Given the description of an element on the screen output the (x, y) to click on. 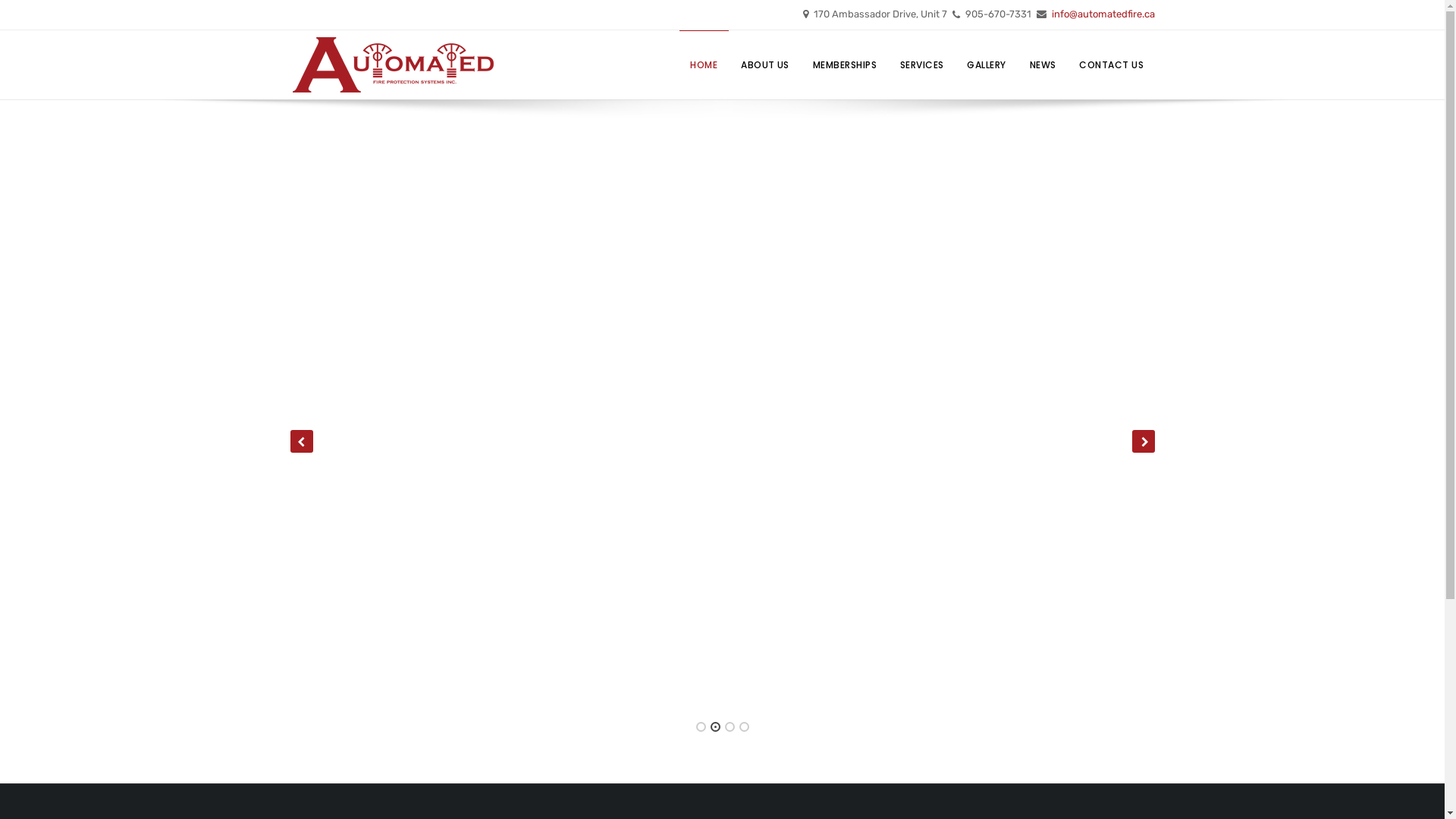
GALLERY Element type: text (986, 65)
NEWS Element type: text (1042, 65)
HOME Element type: text (703, 65)
SERVICES Element type: text (921, 65)
info@automatedfire.ca Element type: text (1102, 13)
ABOUT US Element type: text (765, 65)
CONTACT US Element type: text (1111, 65)
MEMBERSHIPS Element type: text (844, 65)
